Given the description of an element on the screen output the (x, y) to click on. 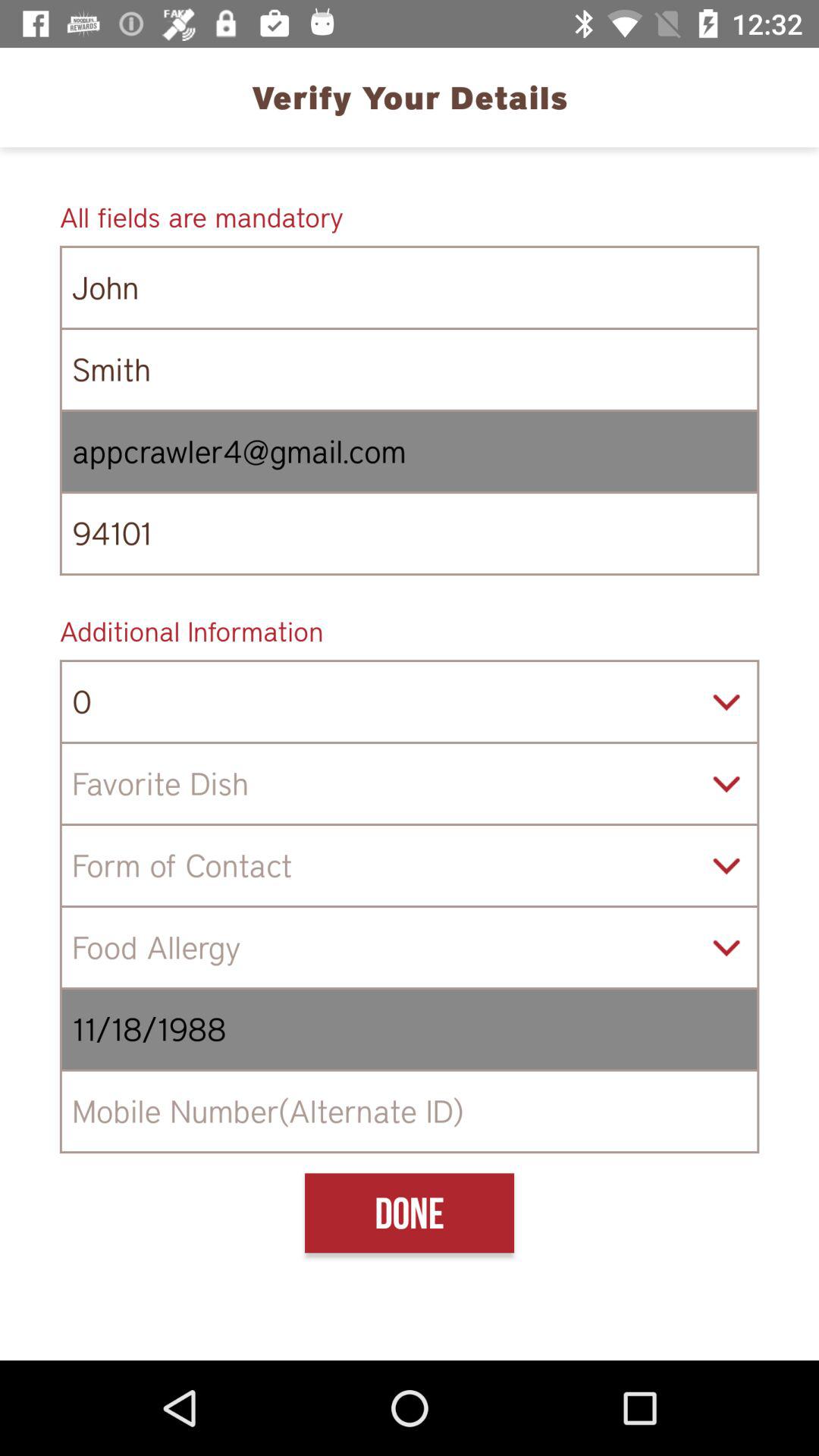
select food allergy (409, 947)
